Given the description of an element on the screen output the (x, y) to click on. 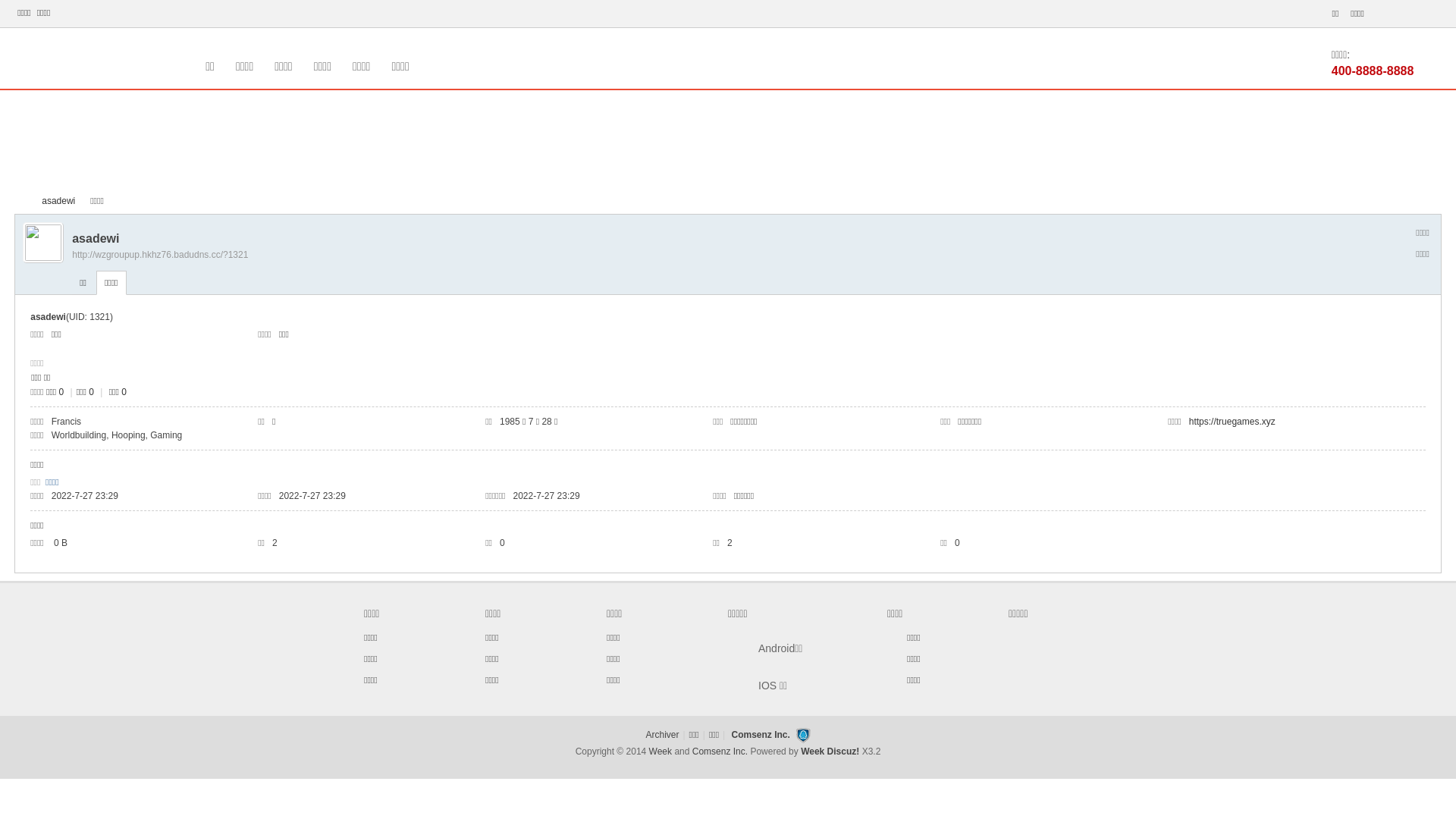
Archiver Element type: text (661, 734)
Comsenz Inc. Element type: text (719, 751)
asadewi Element type: text (58, 201)
http://wzgroupup.hkhz76.badudns.cc/?1321 Element type: text (159, 254)
Discuz! Element type: text (843, 751)
Week Element type: text (813, 751)
Comsenz Inc. Element type: text (760, 734)
Week Element type: text (661, 751)
https://truegames.xyz Element type: text (1232, 421)
